Given the description of an element on the screen output the (x, y) to click on. 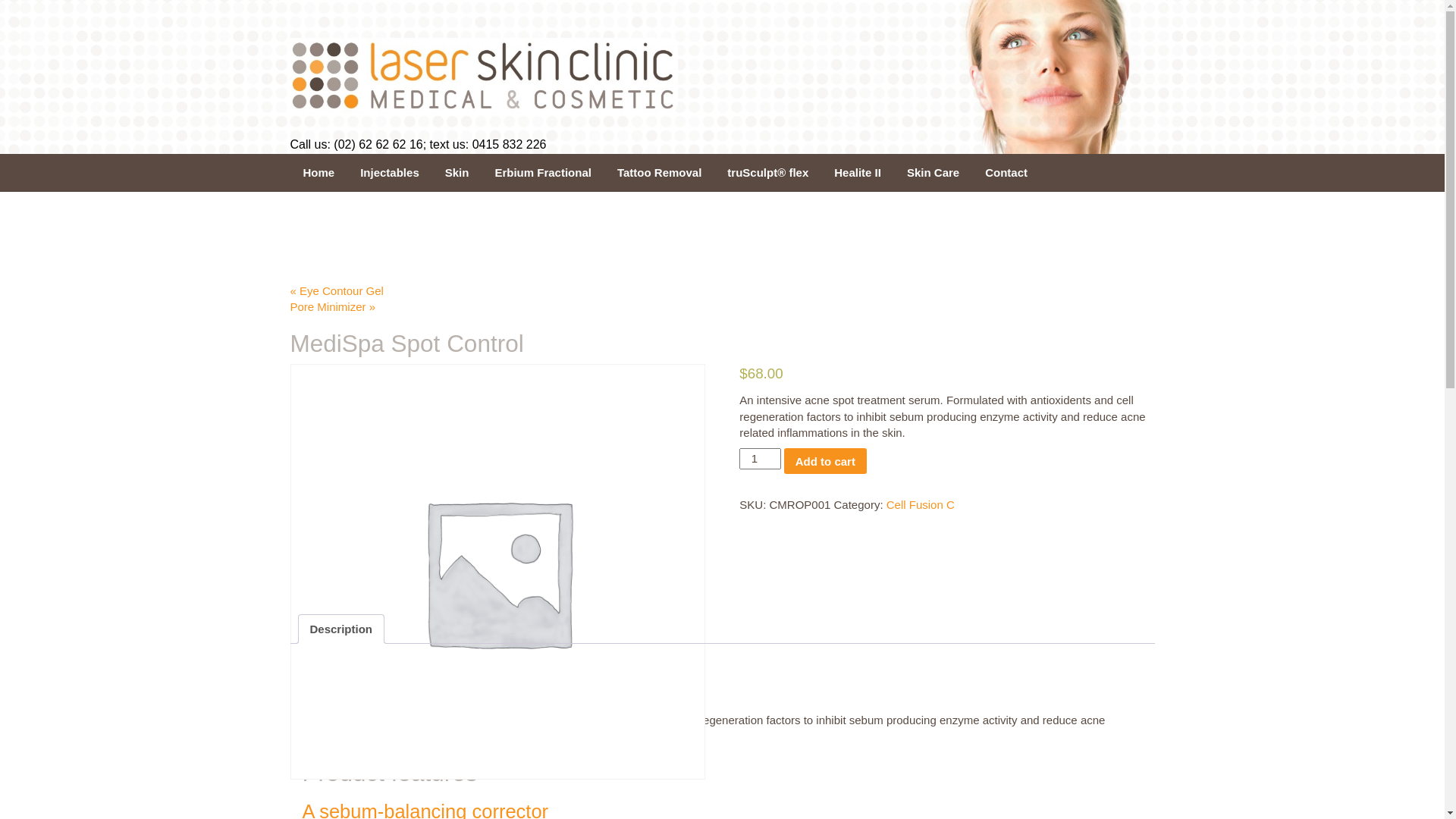
Add to cart Element type: text (825, 460)
Call us: (02) 62 62 62 16; text us: 0415 832 226 Element type: text (417, 144)
Skin Element type: text (457, 172)
Home Element type: text (318, 172)
Healite II Element type: text (857, 172)
Erbium Fractional Element type: text (542, 172)
Skin Care Element type: text (933, 172)
Injectables Element type: text (389, 172)
Tattoo Removal Element type: text (659, 172)
Cell Fusion C Element type: text (920, 504)
Description Element type: text (340, 628)
Contact Element type: text (1006, 172)
